Given the description of an element on the screen output the (x, y) to click on. 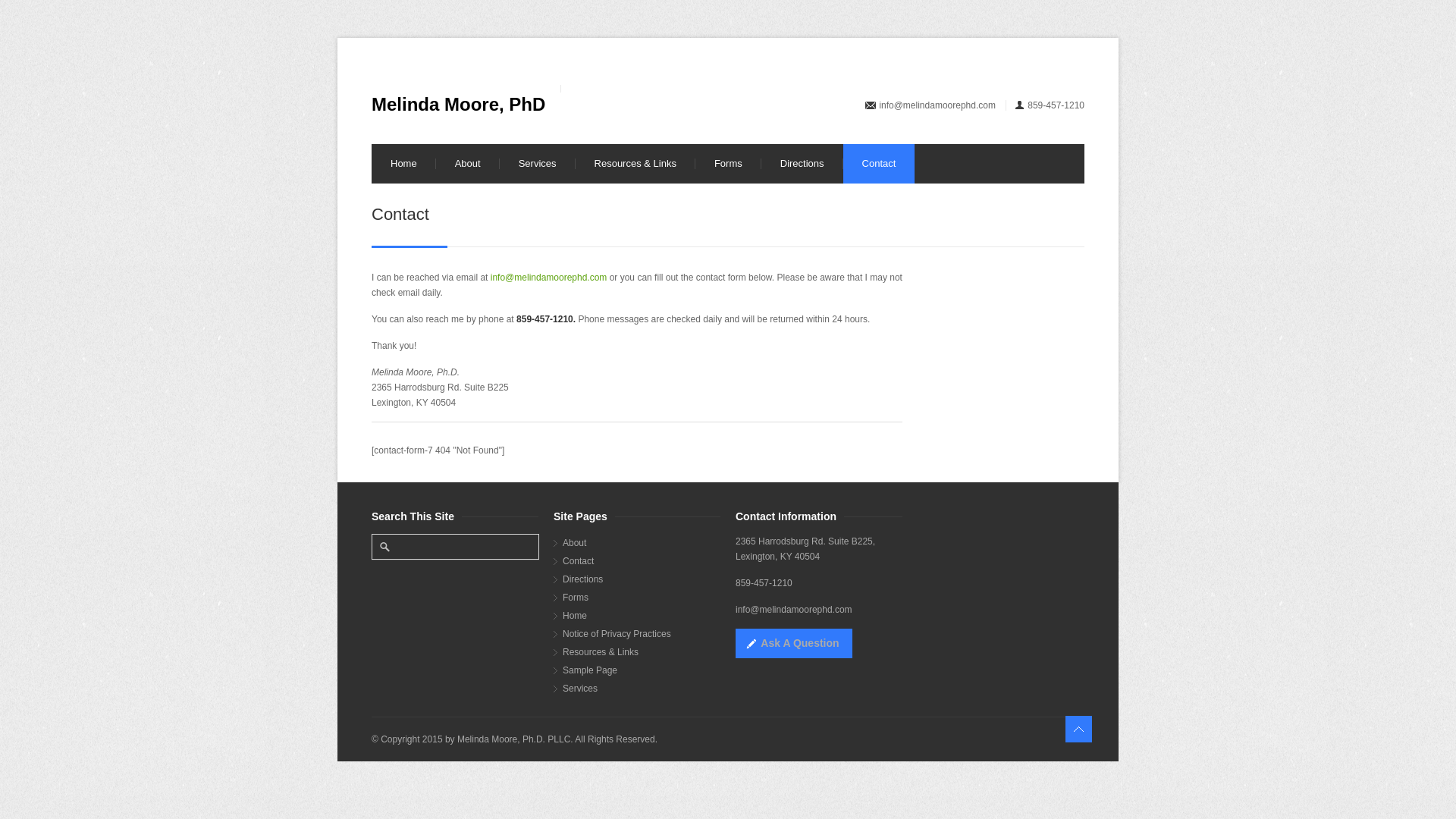
Services (641, 688)
Directions (641, 579)
Melinda Moore, PhD (457, 104)
Melinda Moore, PhD (457, 104)
Contact (879, 163)
Sample Page (641, 670)
Forms (641, 597)
About (641, 542)
Services (537, 163)
Contact (641, 561)
